Given the description of an element on the screen output the (x, y) to click on. 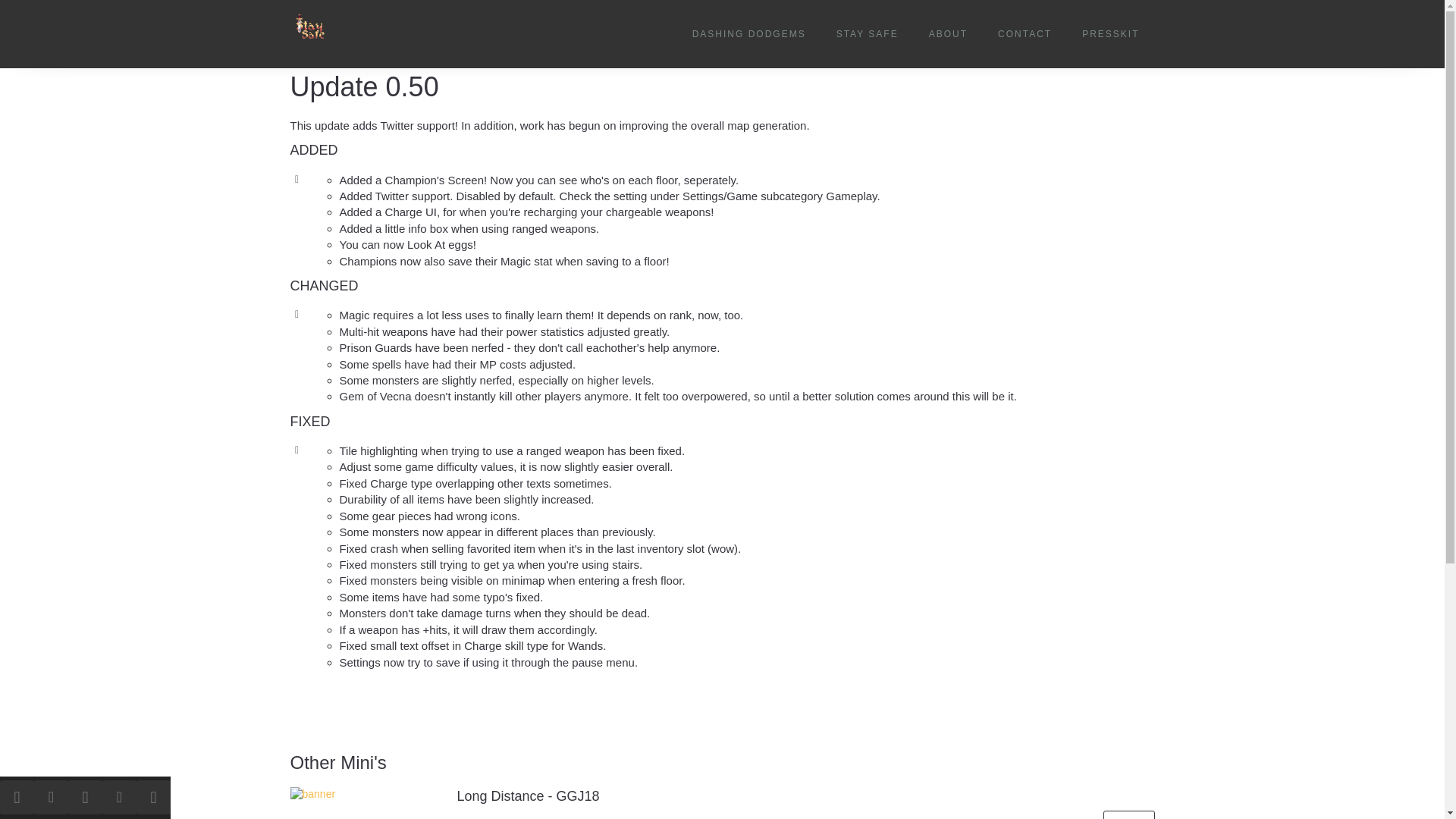
MORE (1128, 814)
PRESSKIT (1110, 33)
STAY SAFE (867, 33)
Long Distance - GGJ18 (527, 795)
CONTACT (1024, 33)
DASHING DODGEMS (748, 33)
Update 0.50 (363, 86)
ABOUT (947, 33)
